Given the description of an element on the screen output the (x, y) to click on. 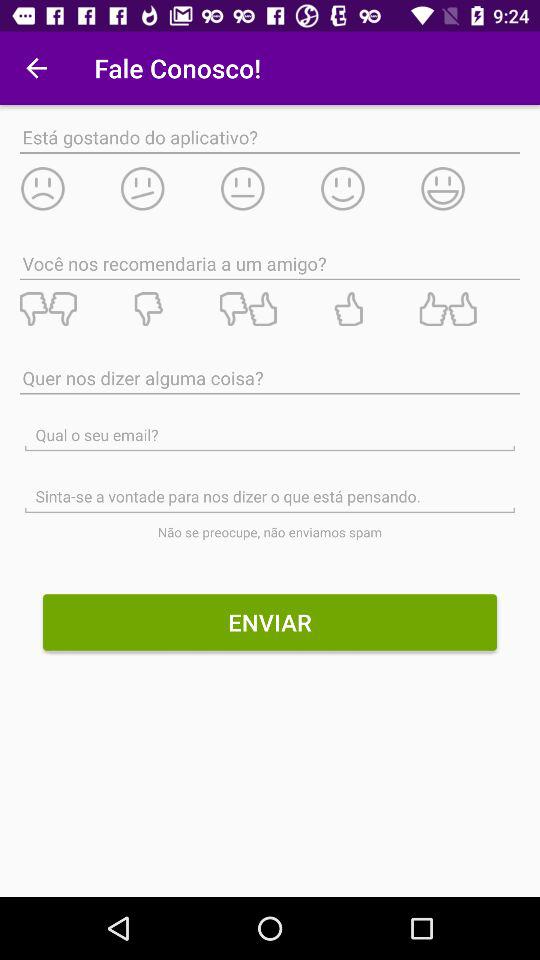
rate the app (169, 188)
